Given the description of an element on the screen output the (x, y) to click on. 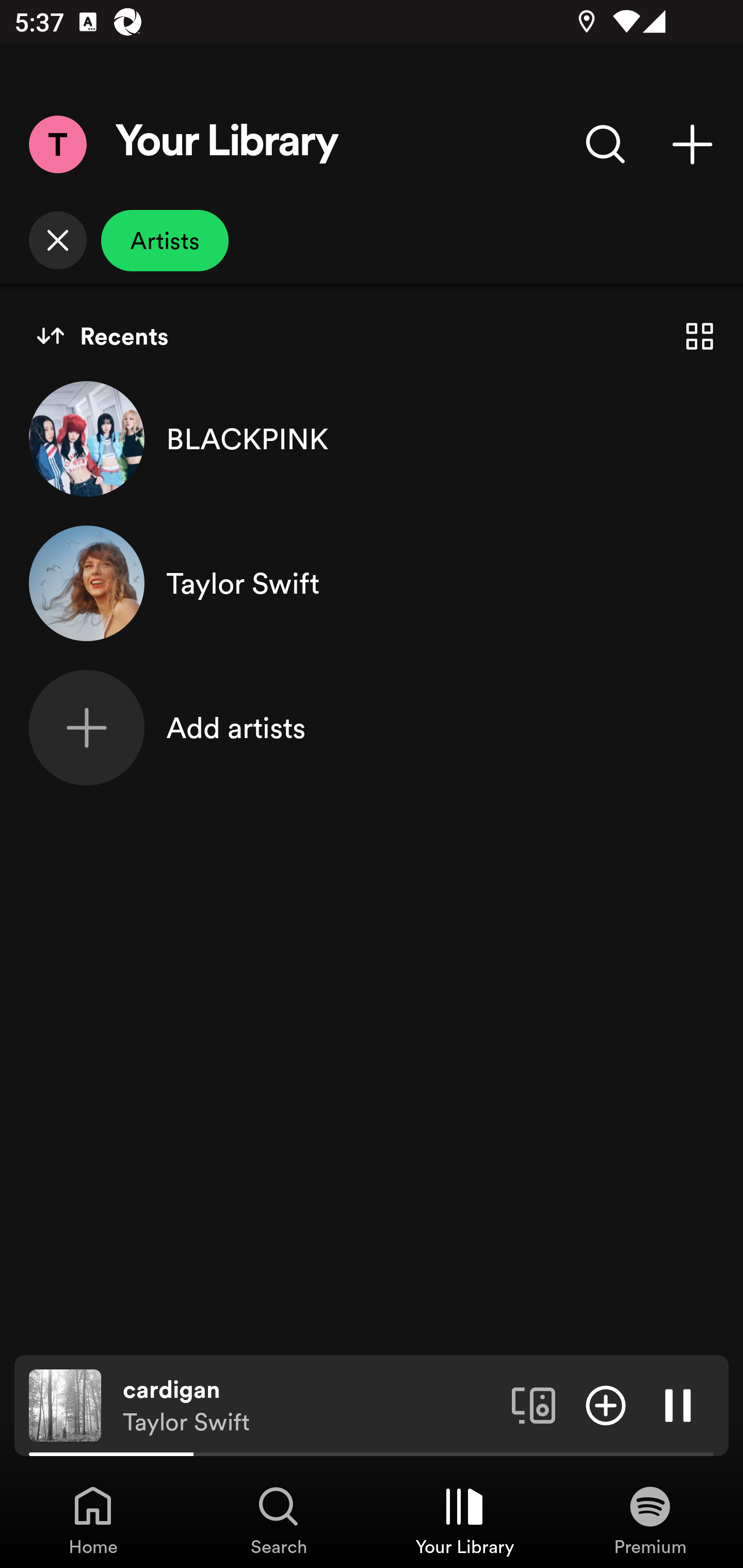
Menu (57, 144)
Search Your Library (605, 144)
Create playlist (692, 144)
Your Library Your Library Heading (226, 144)
Clear Filters (57, 240)
Artists, show only artists. (164, 240)
Recents (101, 336)
Show Grid view (699, 336)
BLACKPINK,  BLACKPINK (371, 439)
Taylor Swift,  Taylor Swift (371, 583)
Add artists,  Add artists (371, 727)
cardigan Taylor Swift (309, 1405)
The cover art of the currently playing track (64, 1404)
Connect to a device. Opens the devices menu (533, 1404)
Add item (605, 1404)
Pause (677, 1404)
Home, Tab 1 of 4 Home Home (92, 1519)
Search, Tab 2 of 4 Search Search (278, 1519)
Your Library, Tab 3 of 4 Your Library Your Library (464, 1519)
Premium, Tab 4 of 4 Premium Premium (650, 1519)
